Given the description of an element on the screen output the (x, y) to click on. 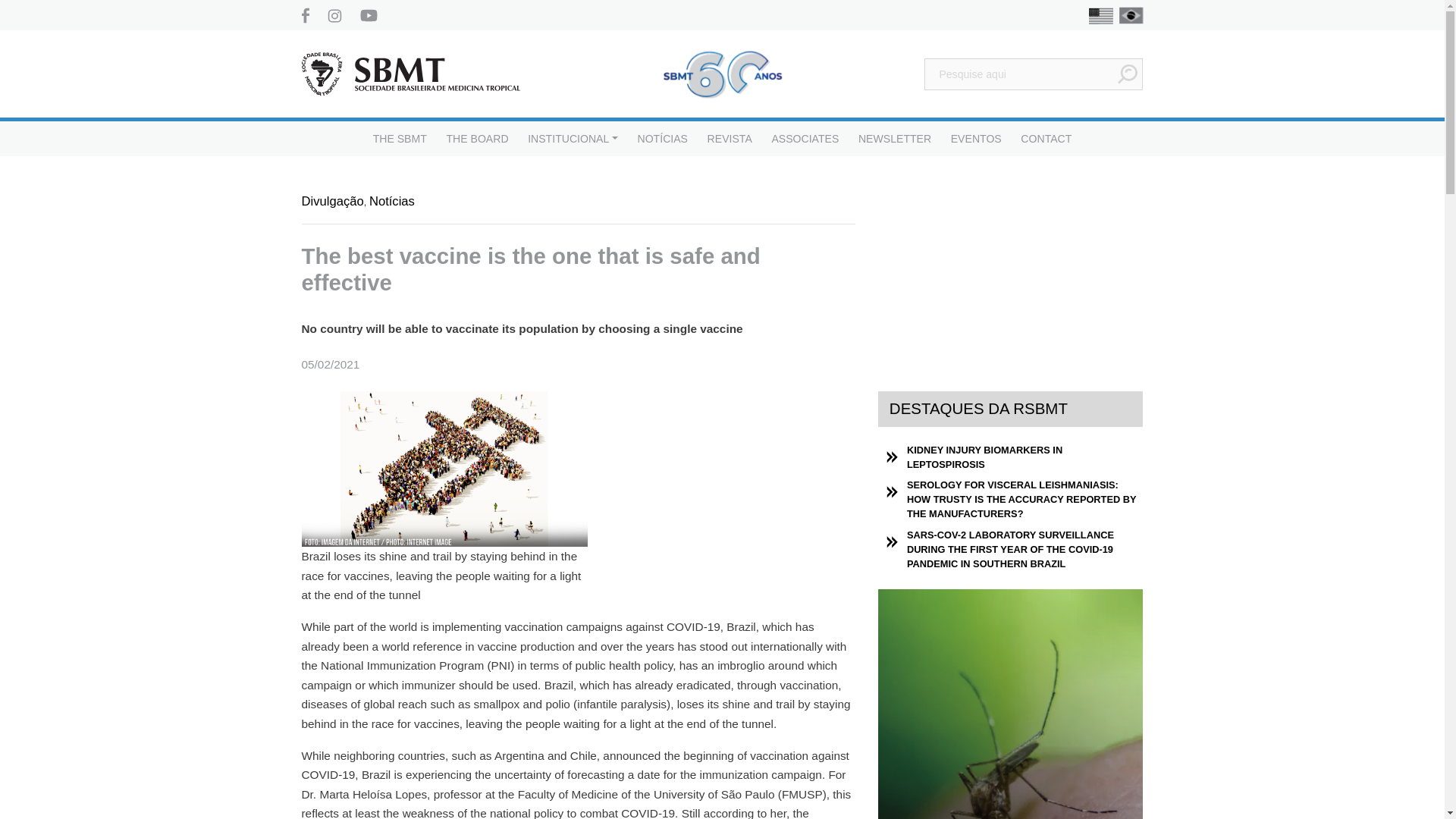
NEWSLETTER (895, 138)
ASSOCIATES (804, 138)
KIDNEY INJURY BIOMARKERS IN LEPTOSPIROSIS (1024, 457)
INSTITUCIONAL (572, 138)
CONTACT (1045, 138)
Pesquisar (1126, 74)
Pesquisar (1126, 74)
THE BOARD (476, 138)
REVISTA (729, 138)
EVENTOS (975, 138)
THE SBMT (399, 138)
